Given the description of an element on the screen output the (x, y) to click on. 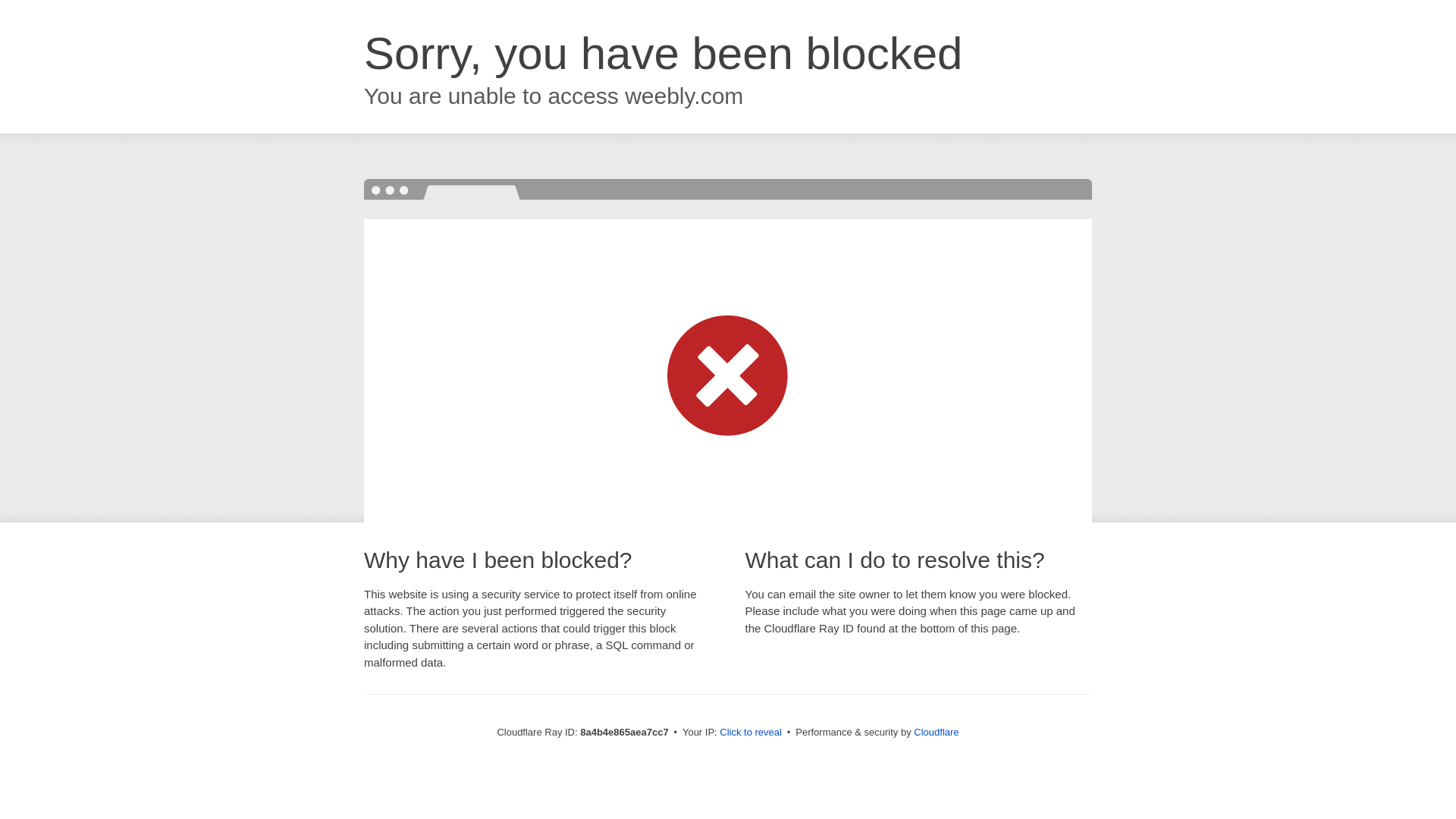
Click to reveal (750, 732)
Cloudflare (936, 731)
